Given the description of an element on the screen output the (x, y) to click on. 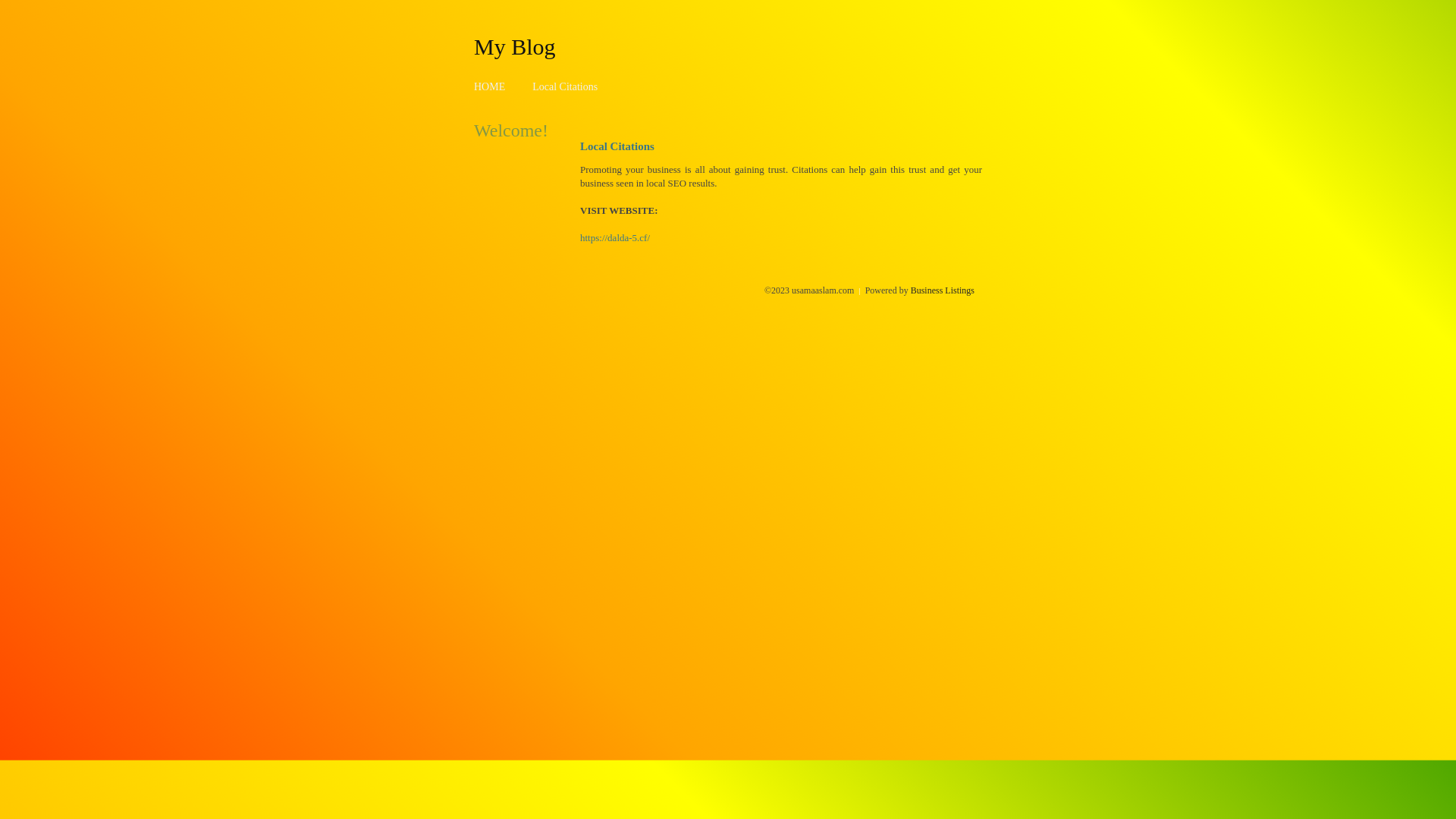
My Blog Element type: text (514, 46)
https://dalda-5.cf/ Element type: text (614, 237)
HOME Element type: text (489, 86)
Business Listings Element type: text (942, 290)
Local Citations Element type: text (564, 86)
